Given the description of an element on the screen output the (x, y) to click on. 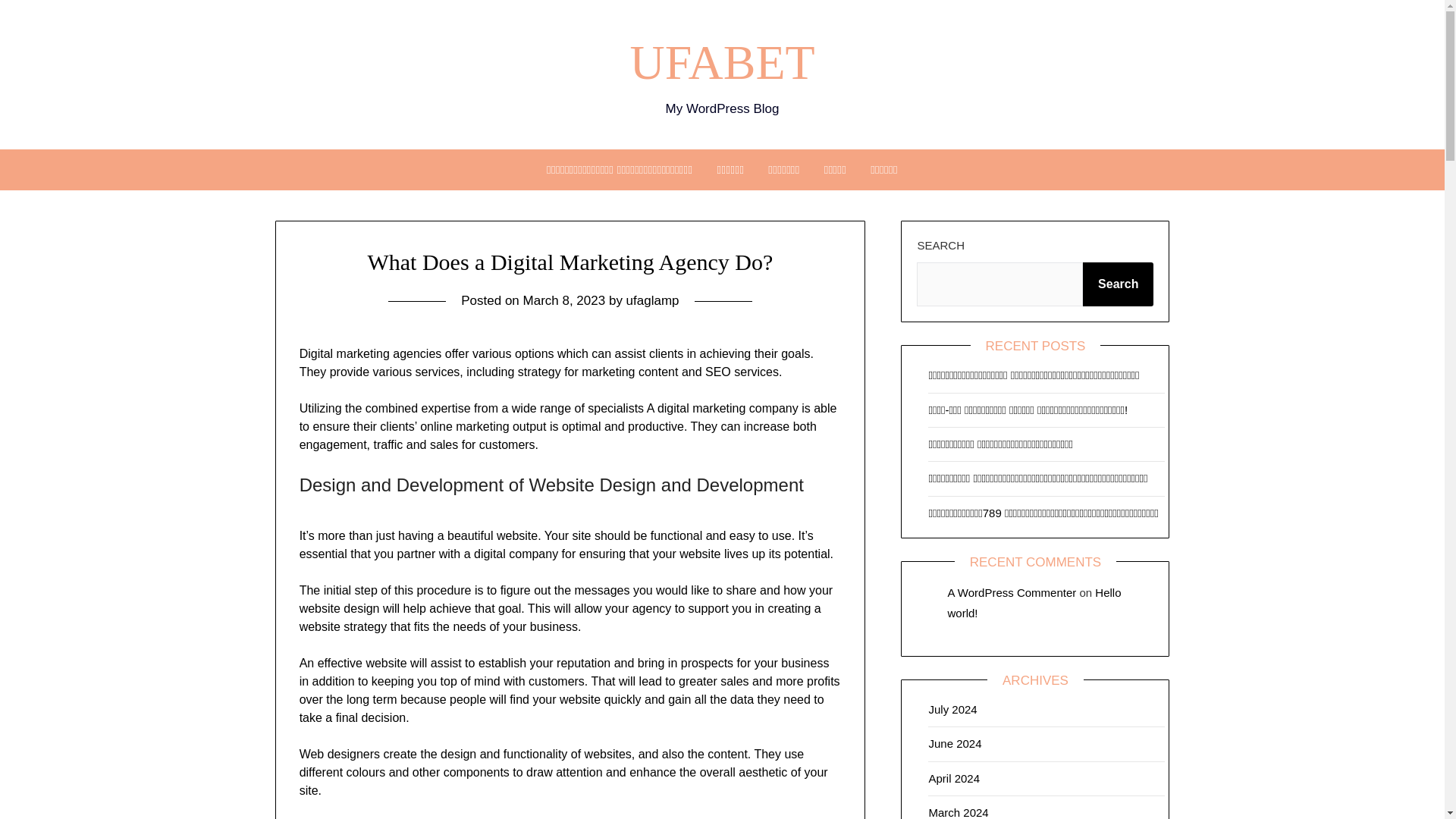
April 2024 (953, 778)
March 2024 (958, 812)
July 2024 (952, 708)
Search (1118, 284)
June 2024 (954, 743)
March 8, 2023 (563, 300)
UFABET (720, 62)
A WordPress Commenter (1011, 592)
Hello world! (1034, 602)
ufaglamp (652, 300)
